Given the description of an element on the screen output the (x, y) to click on. 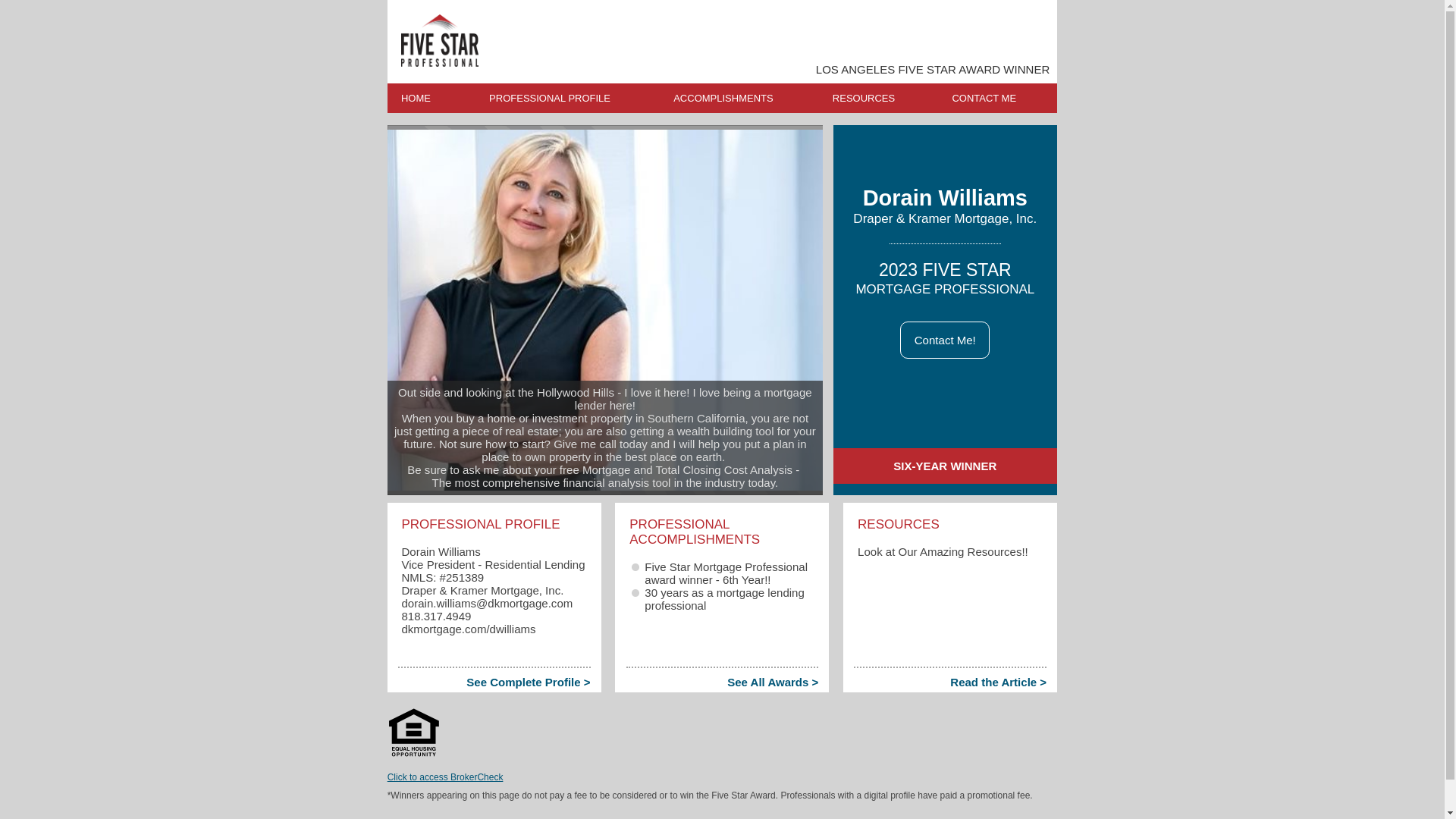
PROFESSIONAL PROFILE (561, 98)
Click to access BrokerCheck (445, 777)
CONTACT ME (996, 98)
RESOURCES (876, 98)
ACCOMPLISHMENTS (735, 98)
Contact Me! (944, 339)
HOME (427, 98)
